Given the description of an element on the screen output the (x, y) to click on. 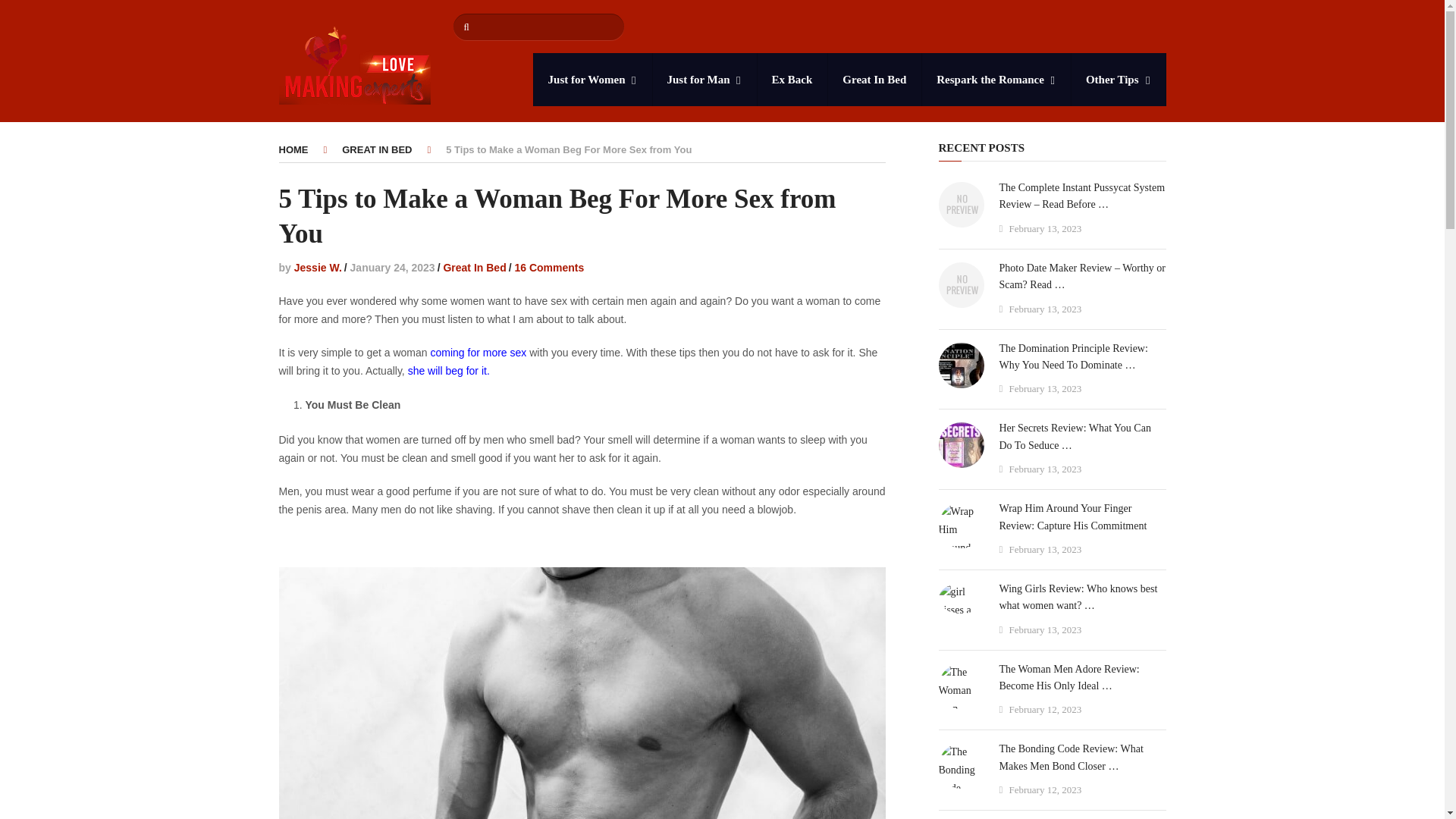
she will beg for it. (448, 370)
Other Tips (1118, 79)
GREAT IN BED (377, 149)
Jessie W. (318, 267)
coming for more sex (477, 352)
16 Comments (548, 267)
Ex Back (792, 79)
View all posts in Great In Bed (473, 267)
Just for Man (704, 79)
Posts by Jessie W. (318, 267)
